Given the description of an element on the screen output the (x, y) to click on. 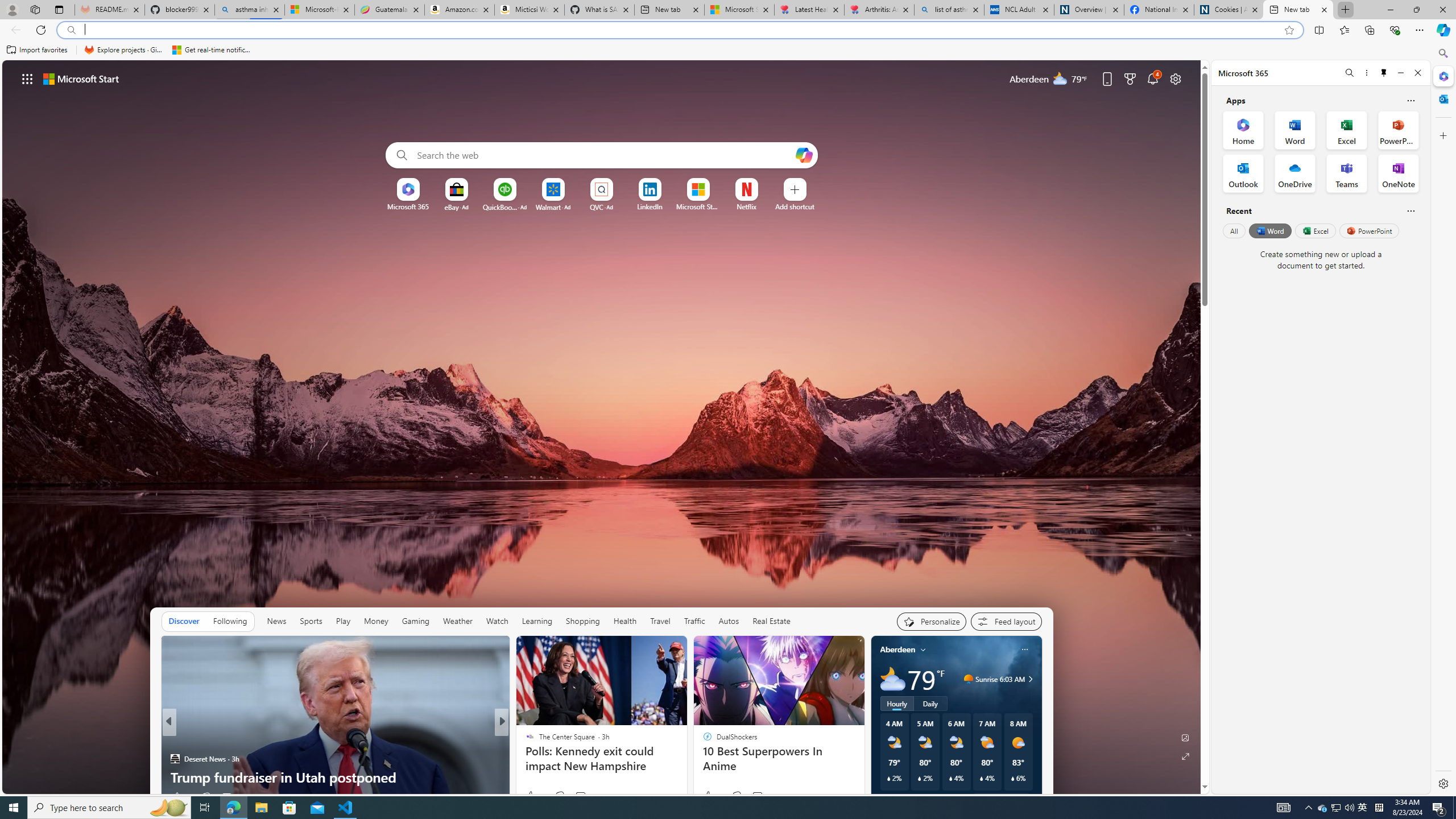
Sunrise 6:03 AM (1028, 678)
Class: weather-current-precipitation-glyph (1012, 778)
Teams Office App (1346, 172)
asthma inhaler - Search (249, 9)
